Given the description of an element on the screen output the (x, y) to click on. 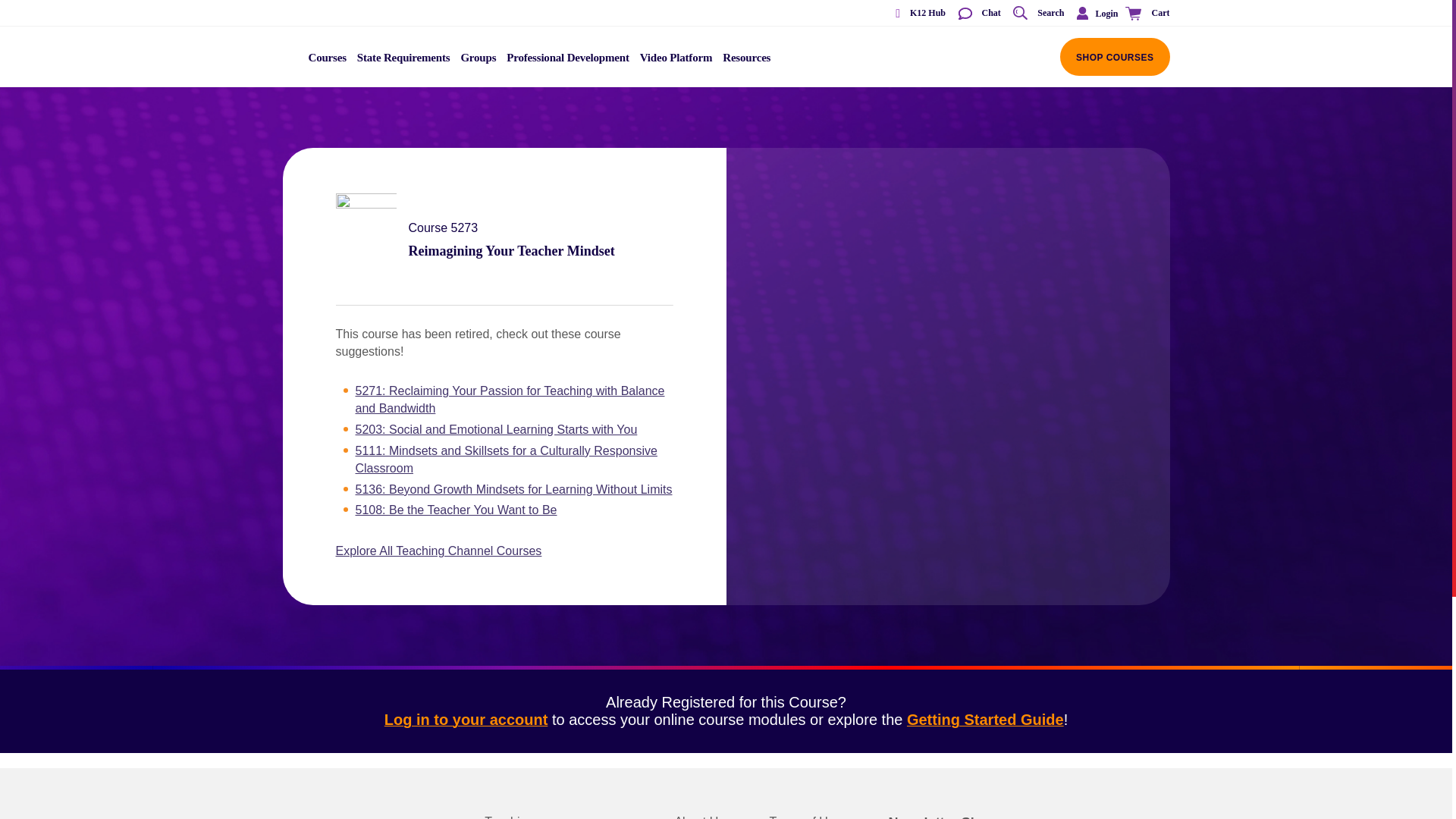
Login (1093, 12)
Courses (327, 62)
K12 Hub (914, 13)
State Requirements (403, 62)
Chat (978, 13)
Cart (1145, 13)
Search (1037, 13)
